Given the description of an element on the screen output the (x, y) to click on. 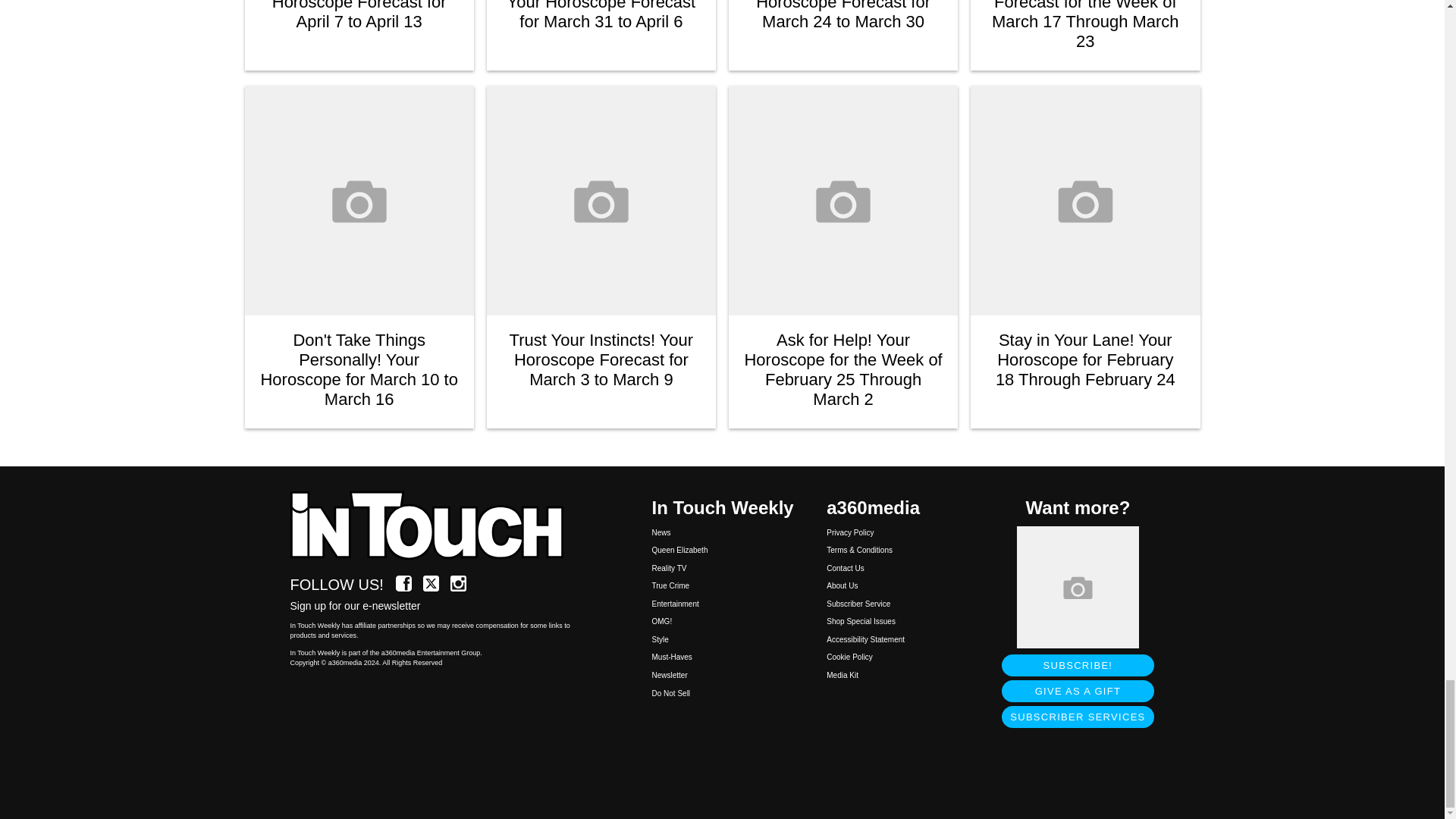
Home (434, 526)
